Given the description of an element on the screen output the (x, y) to click on. 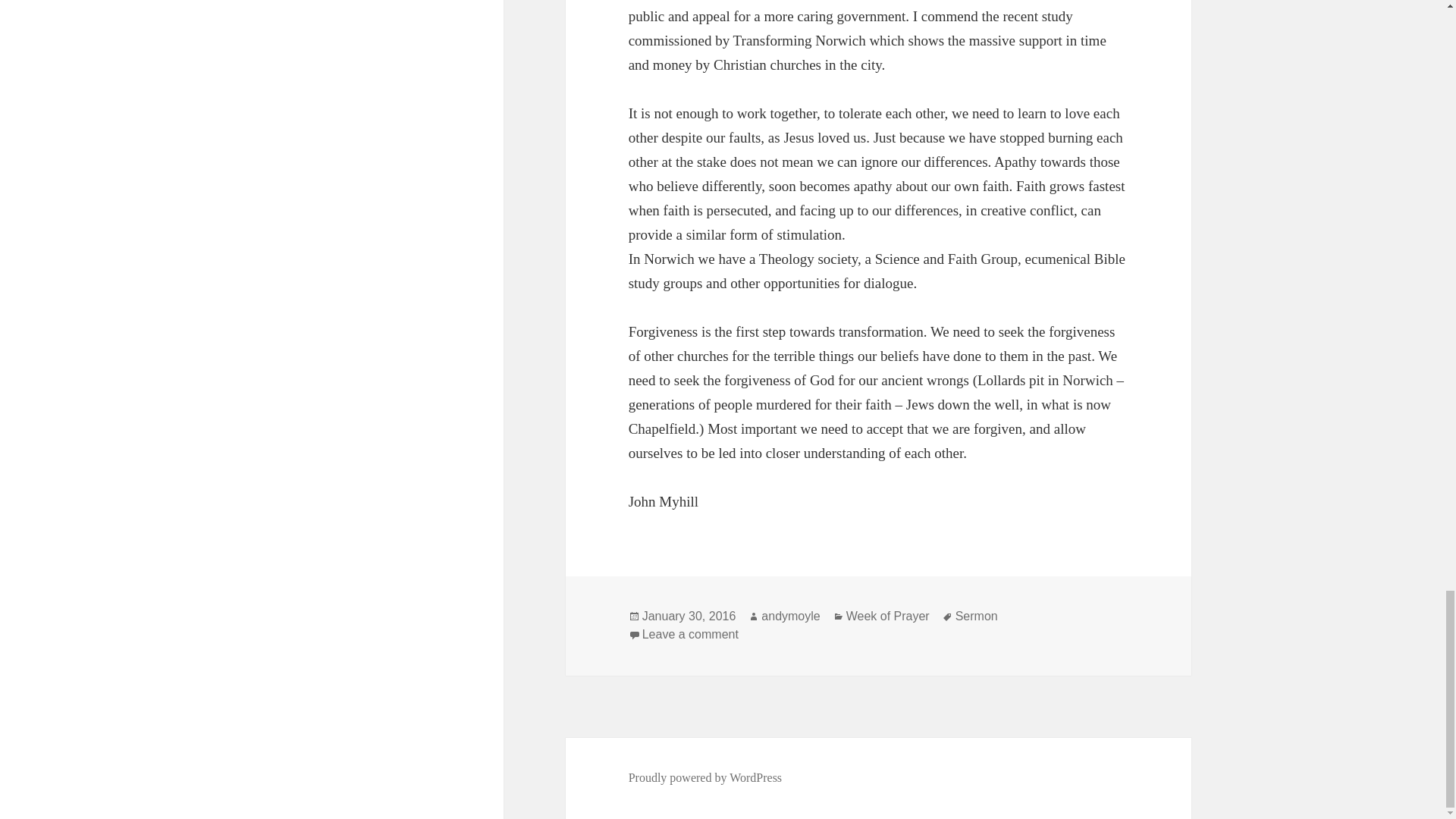
Week of Prayer (887, 616)
Proudly powered by WordPress (704, 777)
andymoyle (690, 634)
January 30, 2016 (790, 616)
Sermon (689, 616)
